Given the description of an element on the screen output the (x, y) to click on. 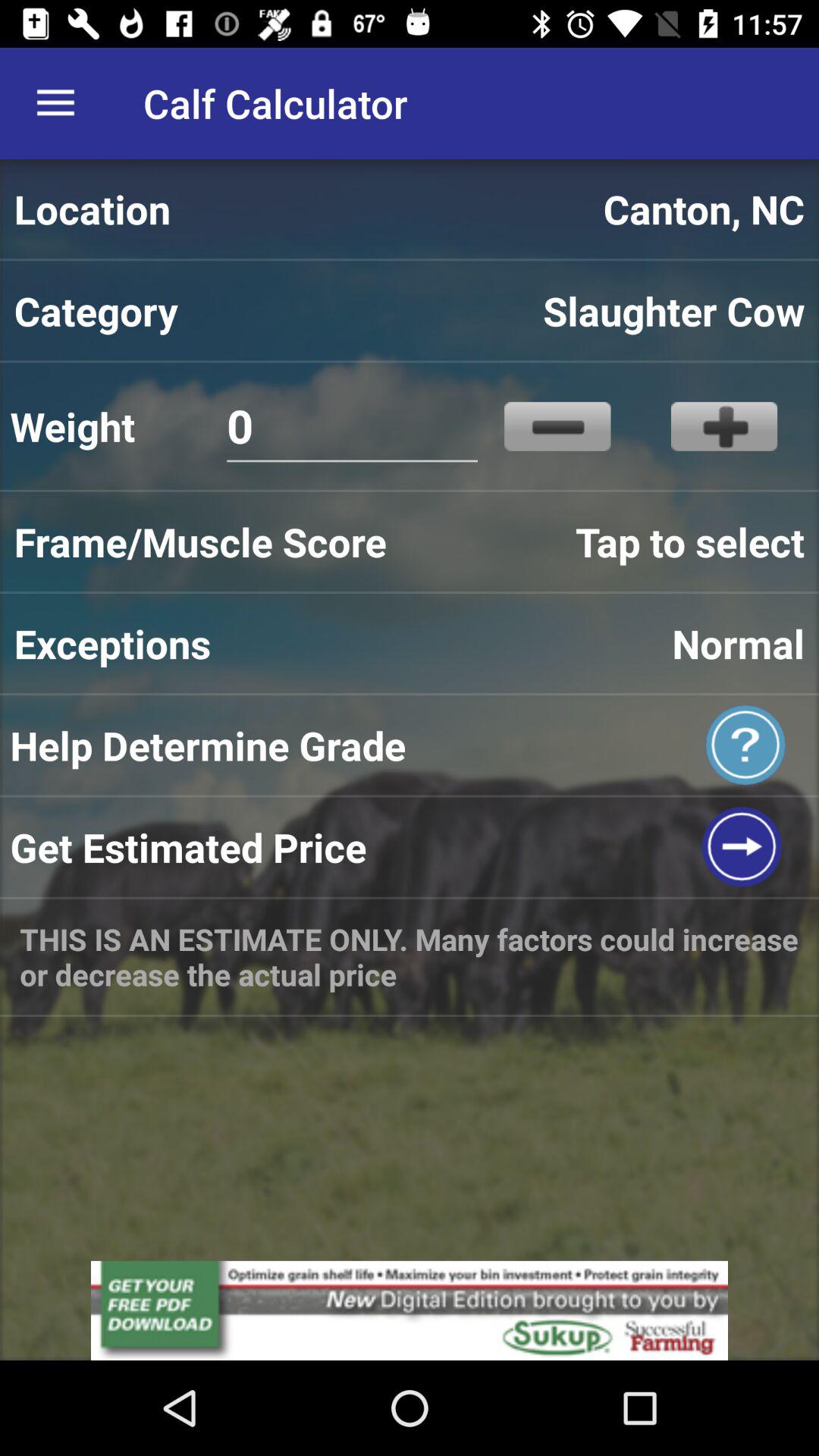
decrease weight value (557, 425)
